Given the description of an element on the screen output the (x, y) to click on. 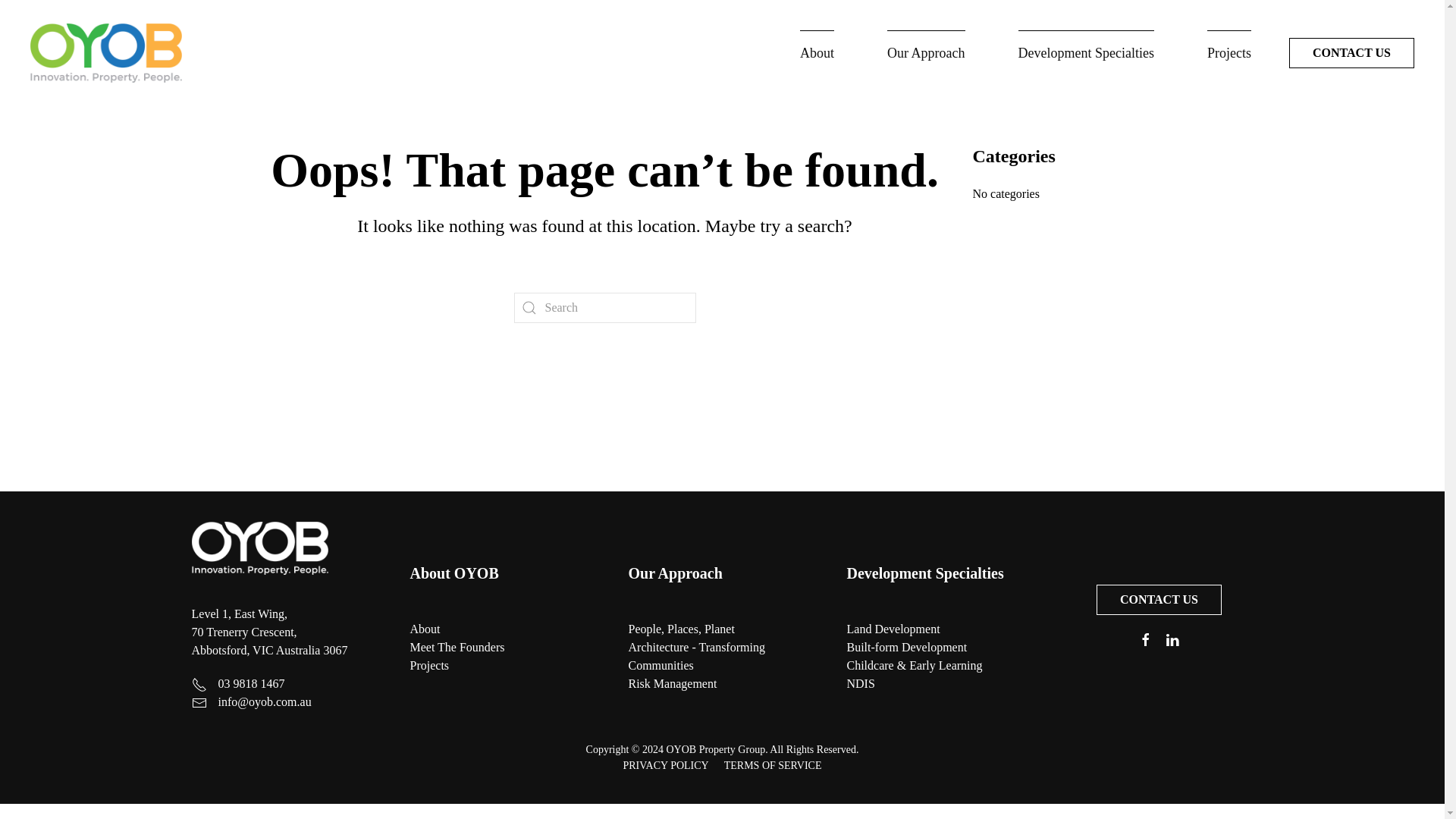
Development Specialties (1085, 53)
CONTACT US (1350, 52)
Projects (428, 665)
Projects (1228, 53)
About (424, 628)
03 9818 1467 (251, 683)
Our Approach (674, 573)
Our Approach (924, 53)
Architecture - Transforming Communities (695, 655)
Meet The Founders (456, 646)
